Given the description of an element on the screen output the (x, y) to click on. 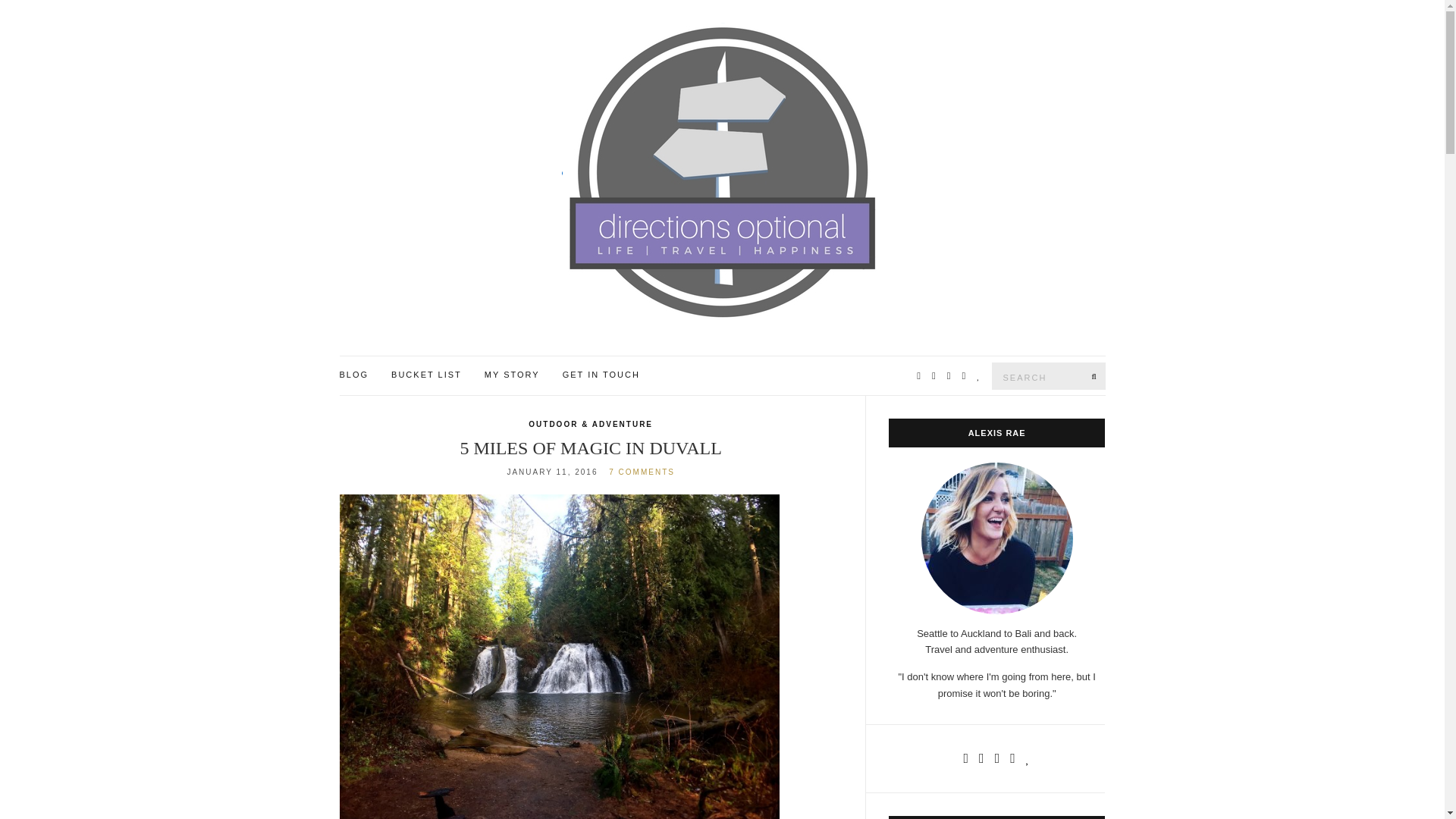
7 COMMENTS (641, 471)
BLOG (354, 375)
MY STORY (512, 375)
GET IN TOUCH (601, 375)
BUCKET LIST (426, 375)
